Given the description of an element on the screen output the (x, y) to click on. 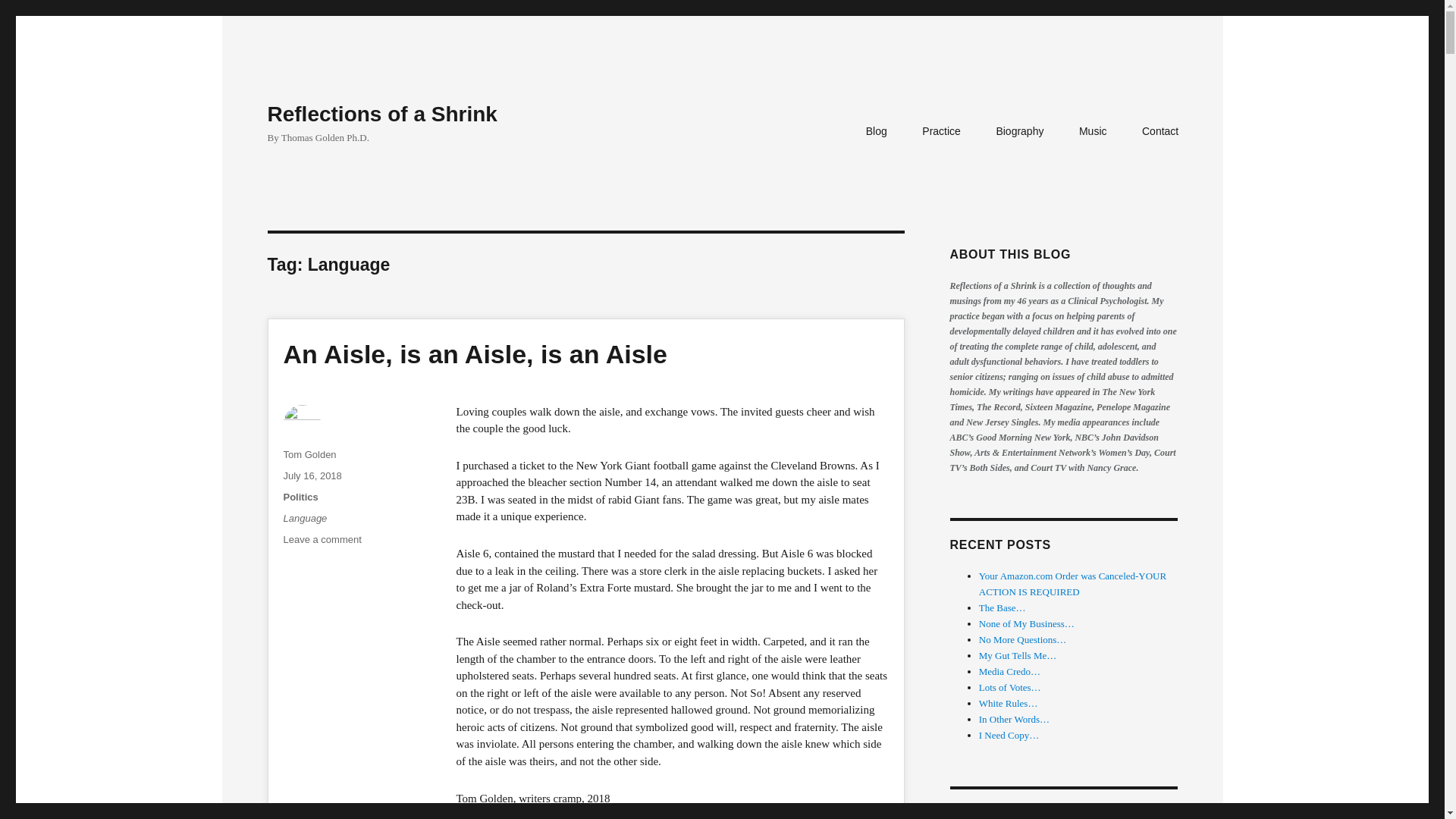
Music (1093, 131)
Blog (876, 131)
Practice (940, 131)
Contact (322, 539)
Biography (1160, 131)
July 16, 2018 (1019, 131)
Reflections of a Shrink (312, 475)
Language (381, 114)
Tom Golden (305, 518)
